Given the description of an element on the screen output the (x, y) to click on. 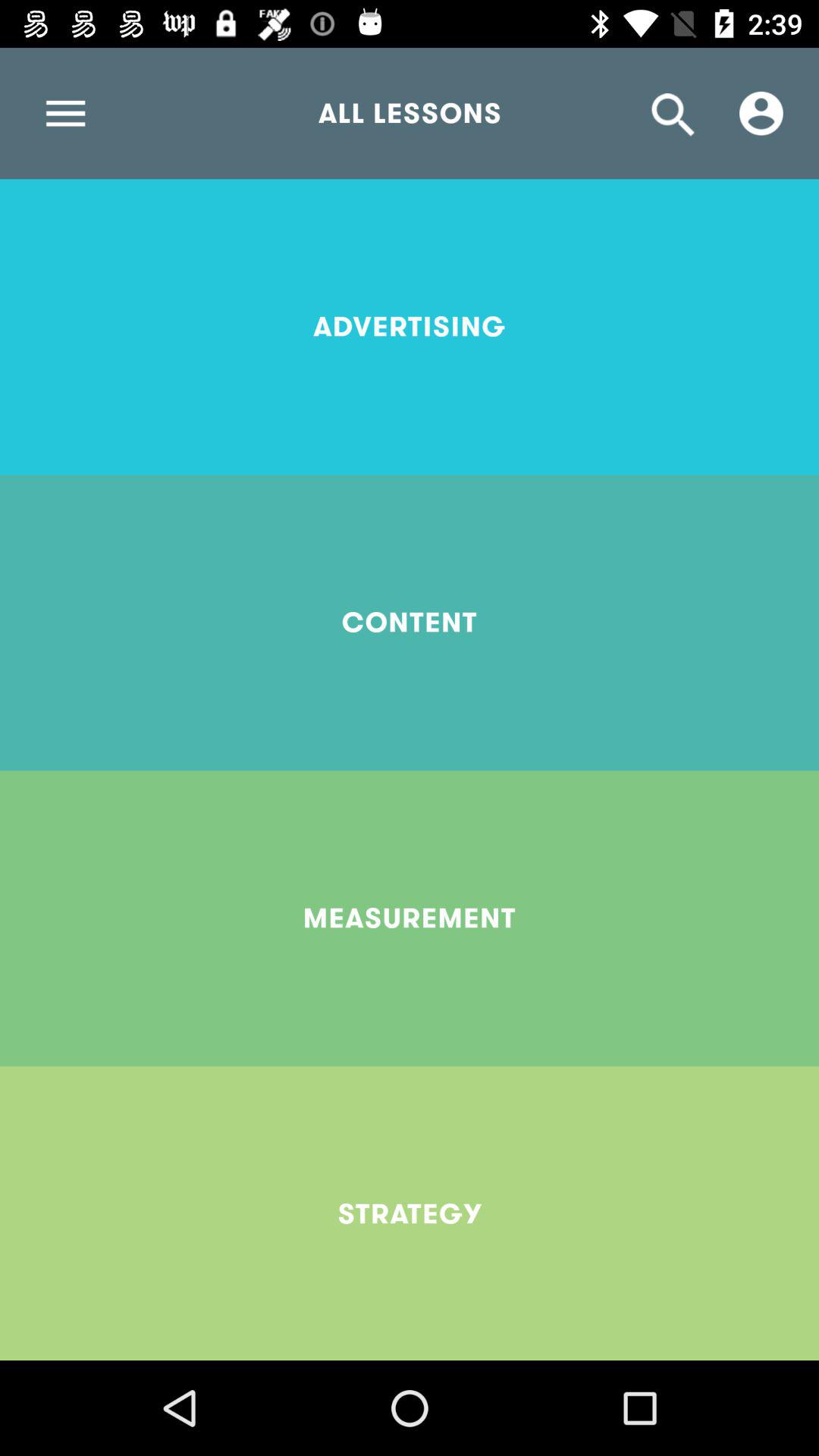
turn on icon at the top left corner (65, 113)
